Given the description of an element on the screen output the (x, y) to click on. 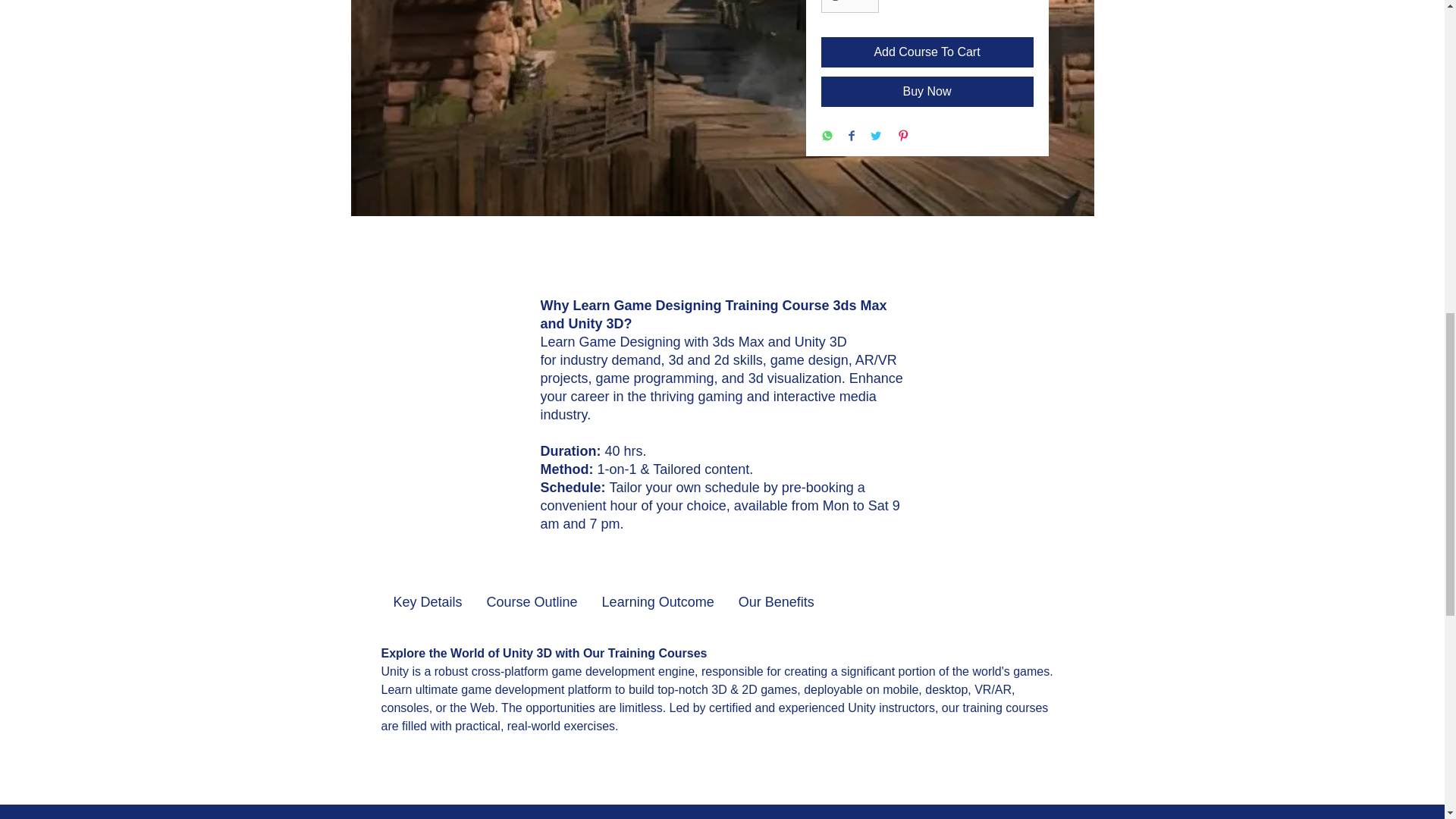
Buy Now (926, 91)
Use right and left arrows to navigate between tabs (658, 602)
1 (849, 6)
Add Course To Cart (926, 51)
Use right and left arrows to navigate between tabs (532, 602)
Use right and left arrows to navigate between tabs (776, 602)
Use right and left arrows to navigate between tabs (426, 602)
